Given the description of an element on the screen output the (x, y) to click on. 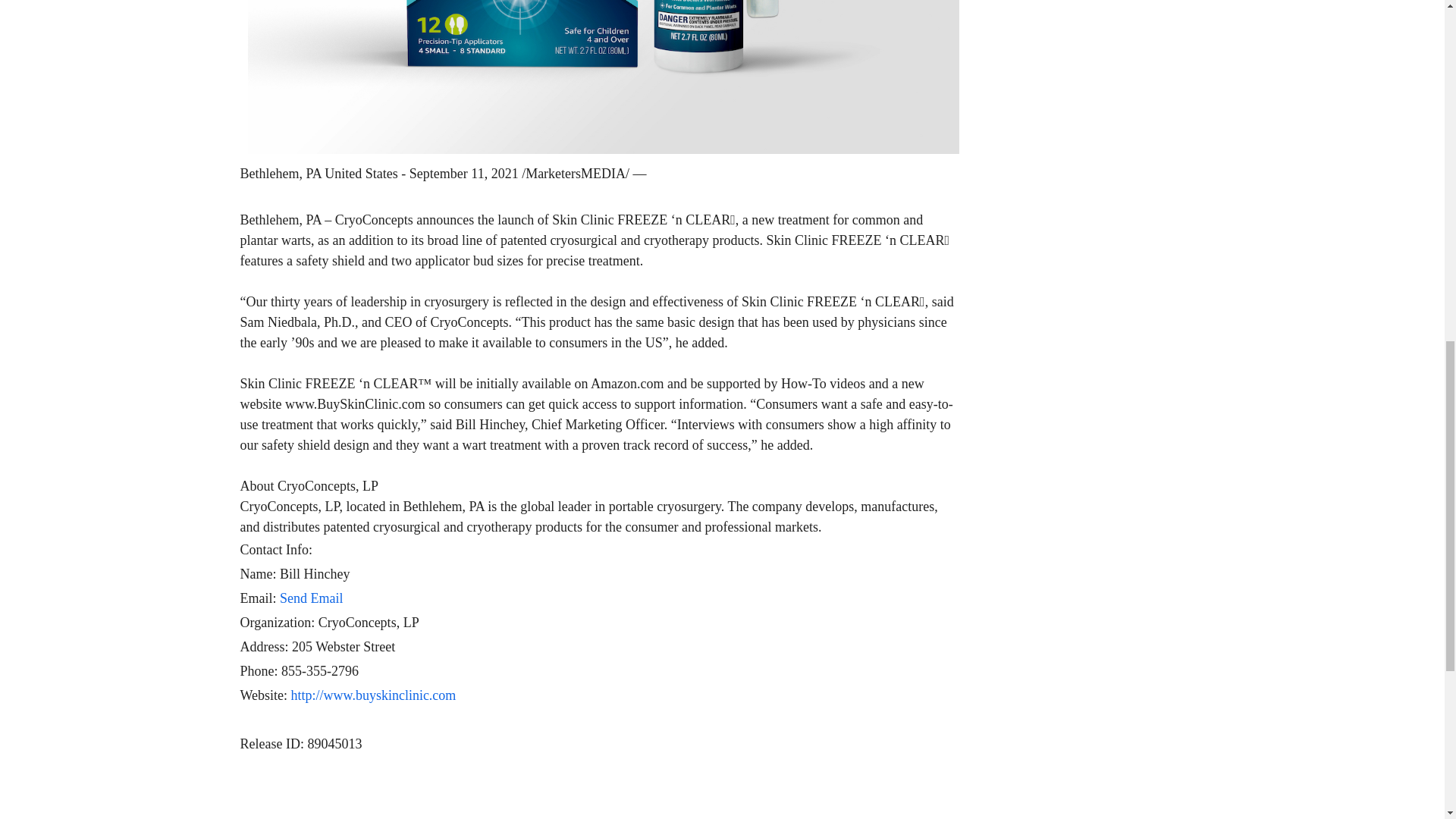
Send Email (311, 598)
